Given the description of an element on the screen output the (x, y) to click on. 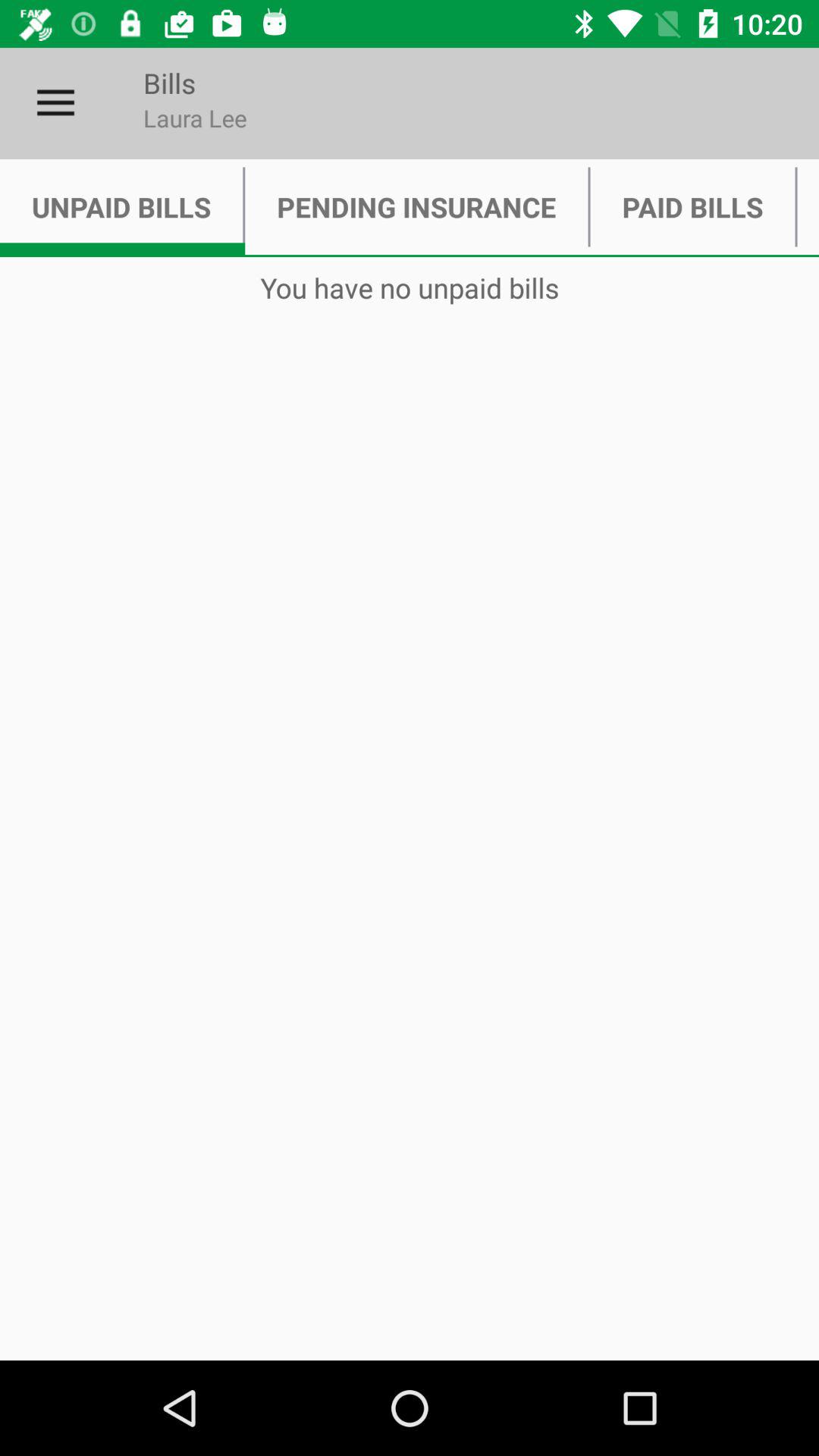
turn on the item to the left of bills (55, 103)
